Given the description of an element on the screen output the (x, y) to click on. 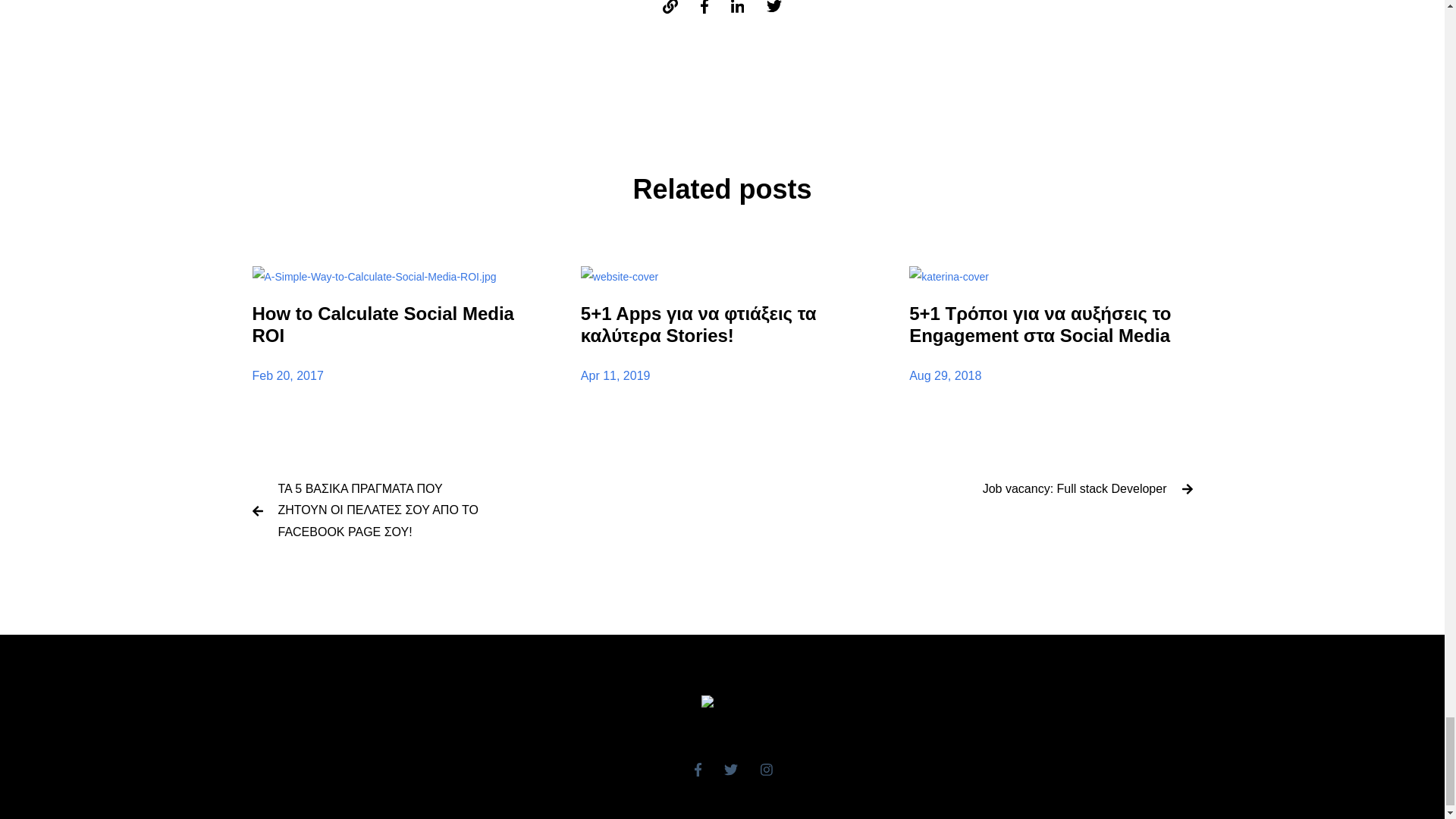
Follow me on my website (670, 6)
Follow us on Twitter (730, 769)
Follow me on Twitter (774, 6)
Follow us on Twitter (730, 769)
Follow me on LinkedIn (737, 6)
Follow me on my website (670, 6)
Follow me on LinkedIn (737, 6)
logo-3 (721, 706)
Job vacancy: Full stack Developer (1074, 489)
Follow me on Twitter (774, 6)
